Given the description of an element on the screen output the (x, y) to click on. 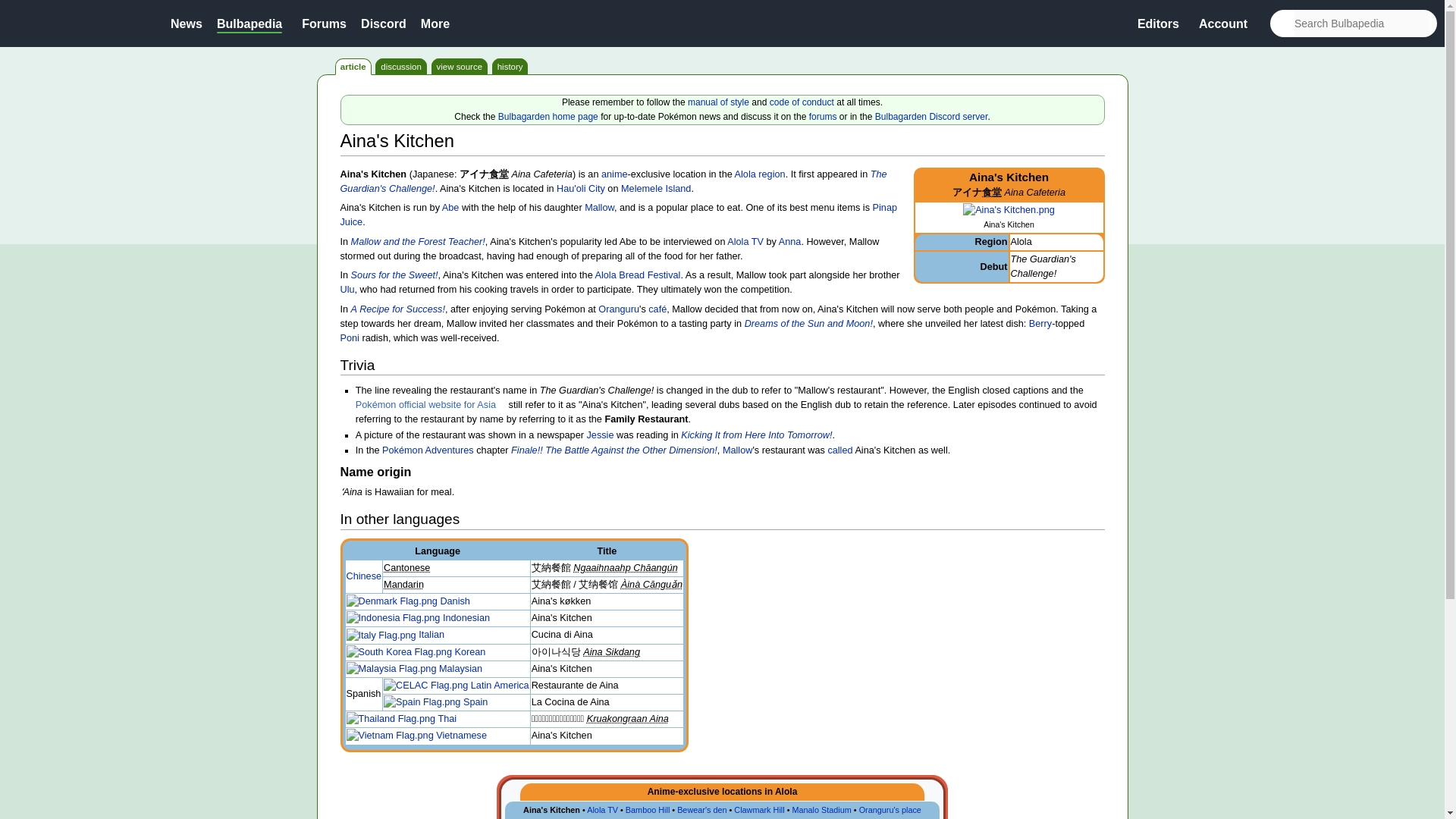
Bulbapedia (249, 22)
Region (991, 241)
Alola (745, 173)
Hau'oli City (580, 188)
Alola (1020, 241)
Abe (451, 207)
Region (771, 173)
Bulbapedia:Manual of style (718, 102)
Bulbapedia:Code of conduct (802, 102)
SM002 (612, 181)
